Given the description of an element on the screen output the (x, y) to click on. 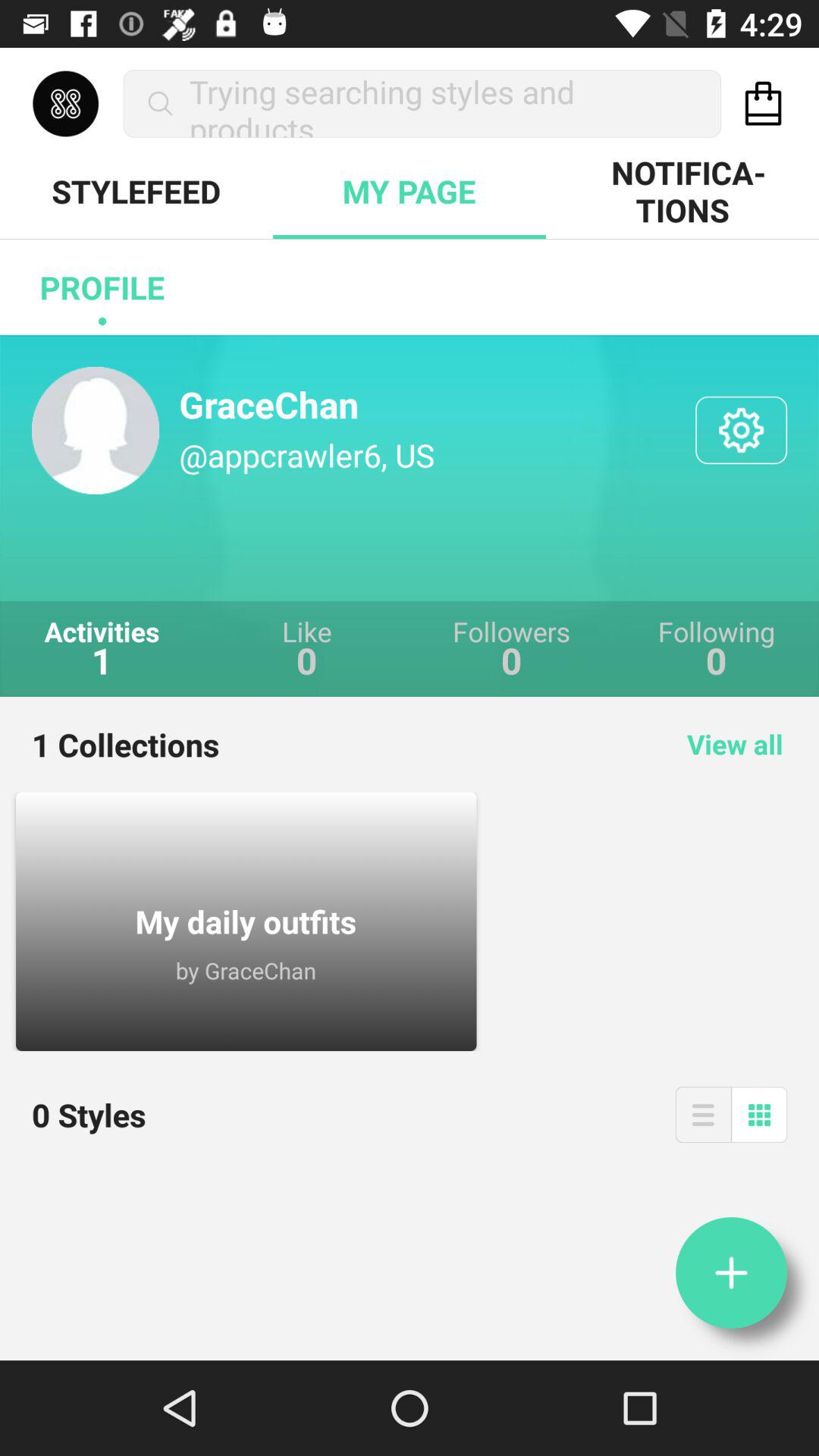
open expanded menu (702, 1114)
